Given the description of an element on the screen output the (x, y) to click on. 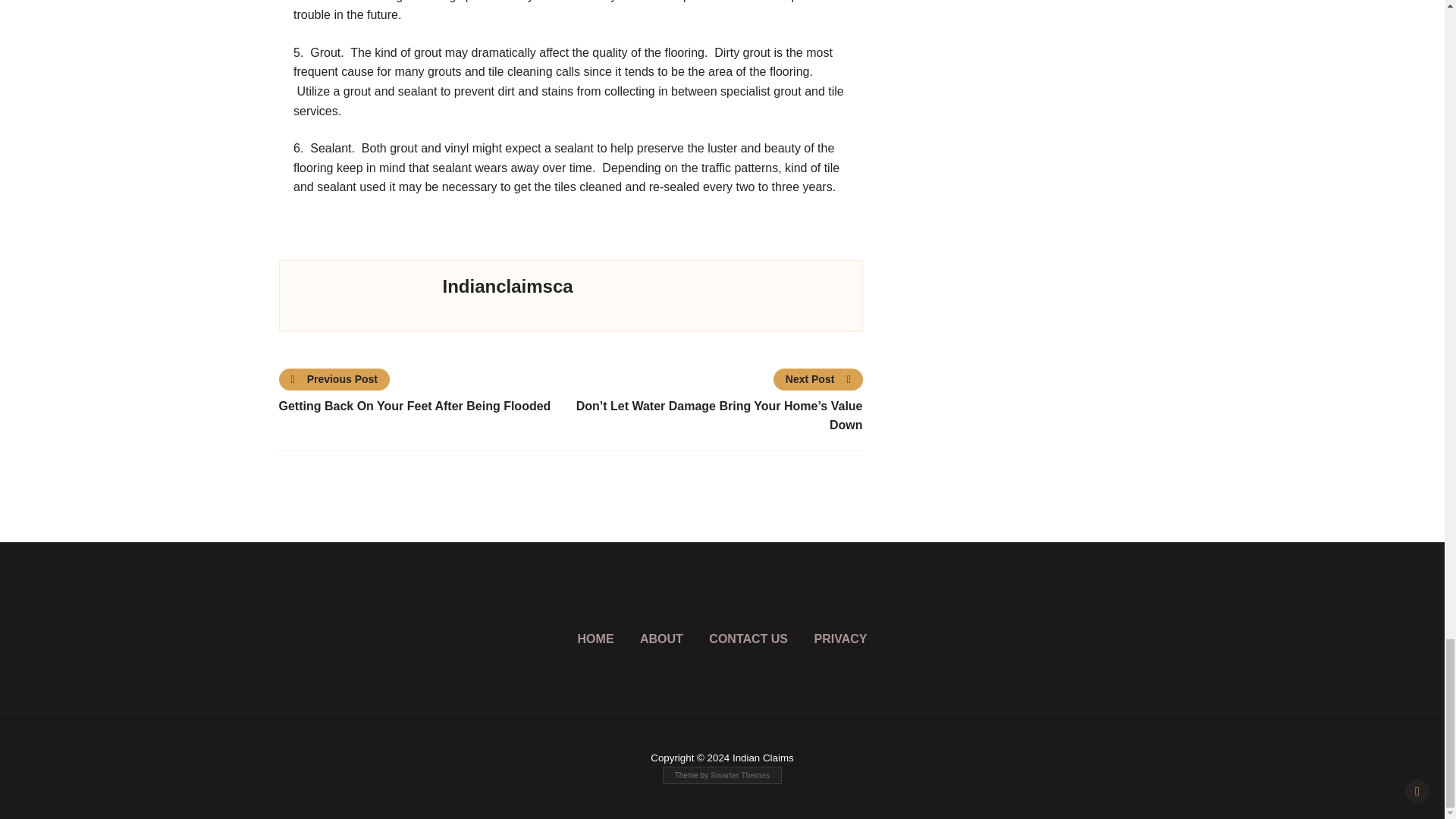
HOME (596, 638)
Previous Post (334, 379)
ABOUT (661, 638)
Getting Back On Your Feet After Being Flooded (424, 406)
Next Post (818, 379)
